Given the description of an element on the screen output the (x, y) to click on. 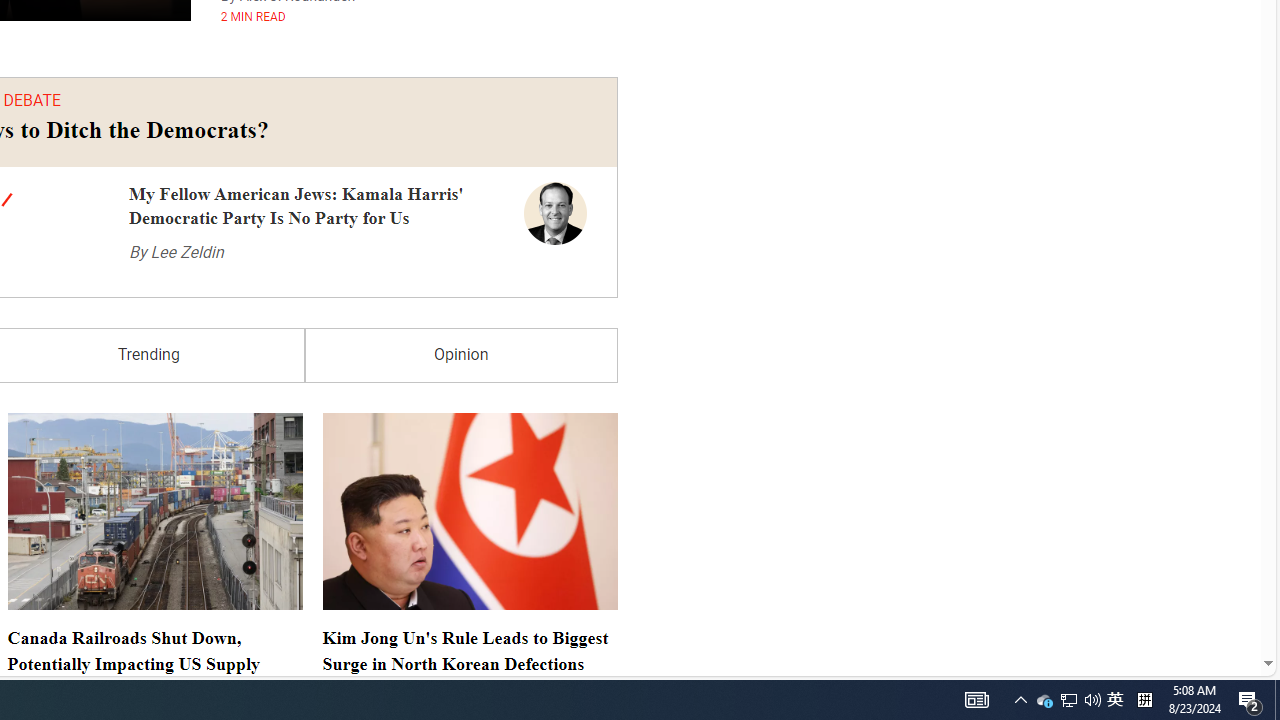
By Matthew Impelli (65, 489)
Opinion (461, 315)
By Lee Zeldin (176, 212)
Tray Input Indicator - Chinese (Simplified, China) (1144, 699)
Show desktop (1277, 699)
User Promoted Notification Area (1068, 699)
Notification Chevron (1020, 699)
By Jon Jackson (371, 672)
By Billal Rahman (59, 672)
